Given the description of an element on the screen output the (x, y) to click on. 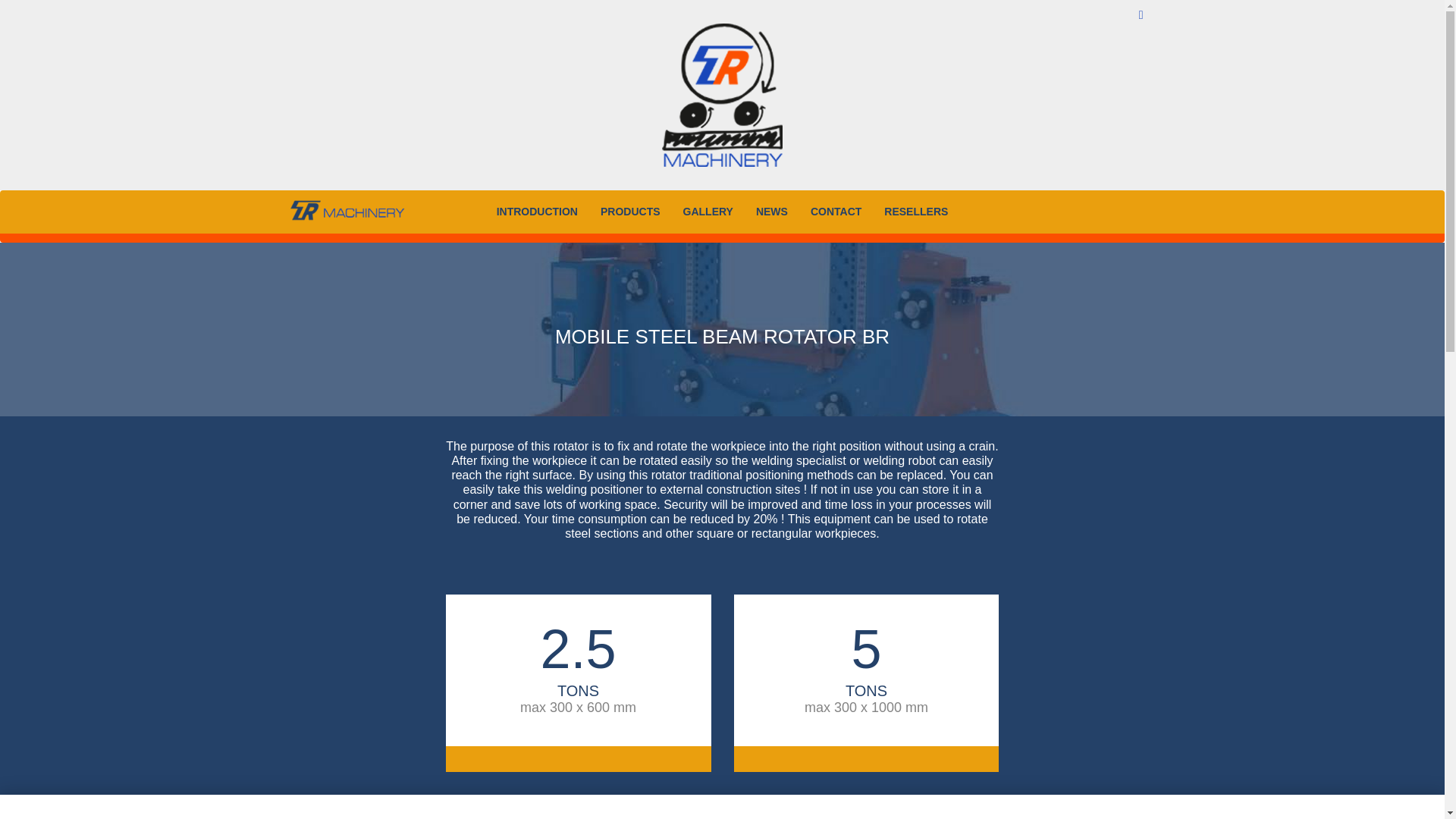
PRODUCTS (630, 210)
NEWS (771, 210)
INTRODUCTION (536, 210)
GALLERY (707, 210)
RESELLERS (915, 210)
CONTACT (835, 210)
